Given the description of an element on the screen output the (x, y) to click on. 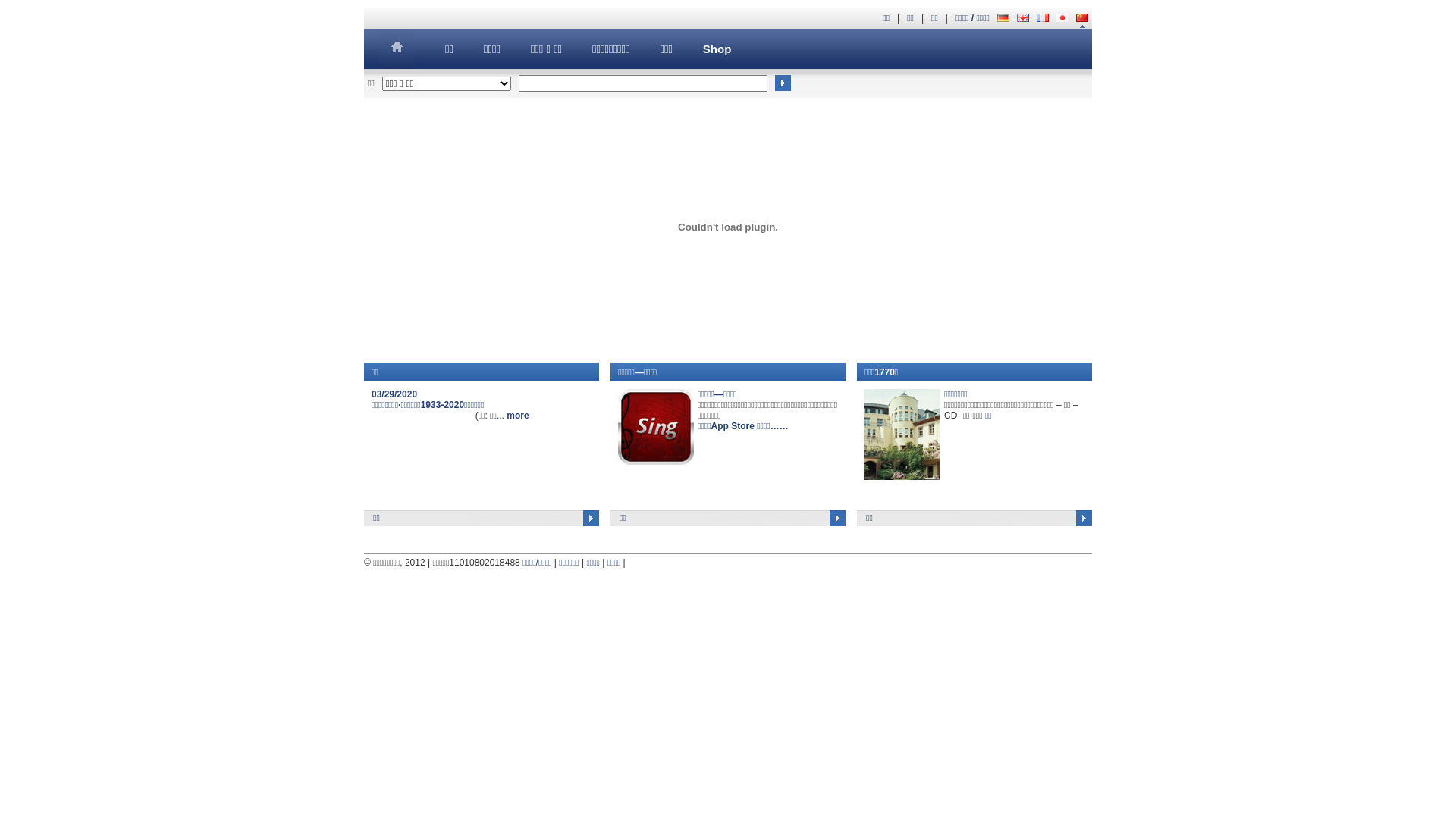
03/29/2020 Element type: text (394, 394)
Shop Element type: text (716, 48)
more Element type: text (517, 415)
